Given the description of an element on the screen output the (x, y) to click on. 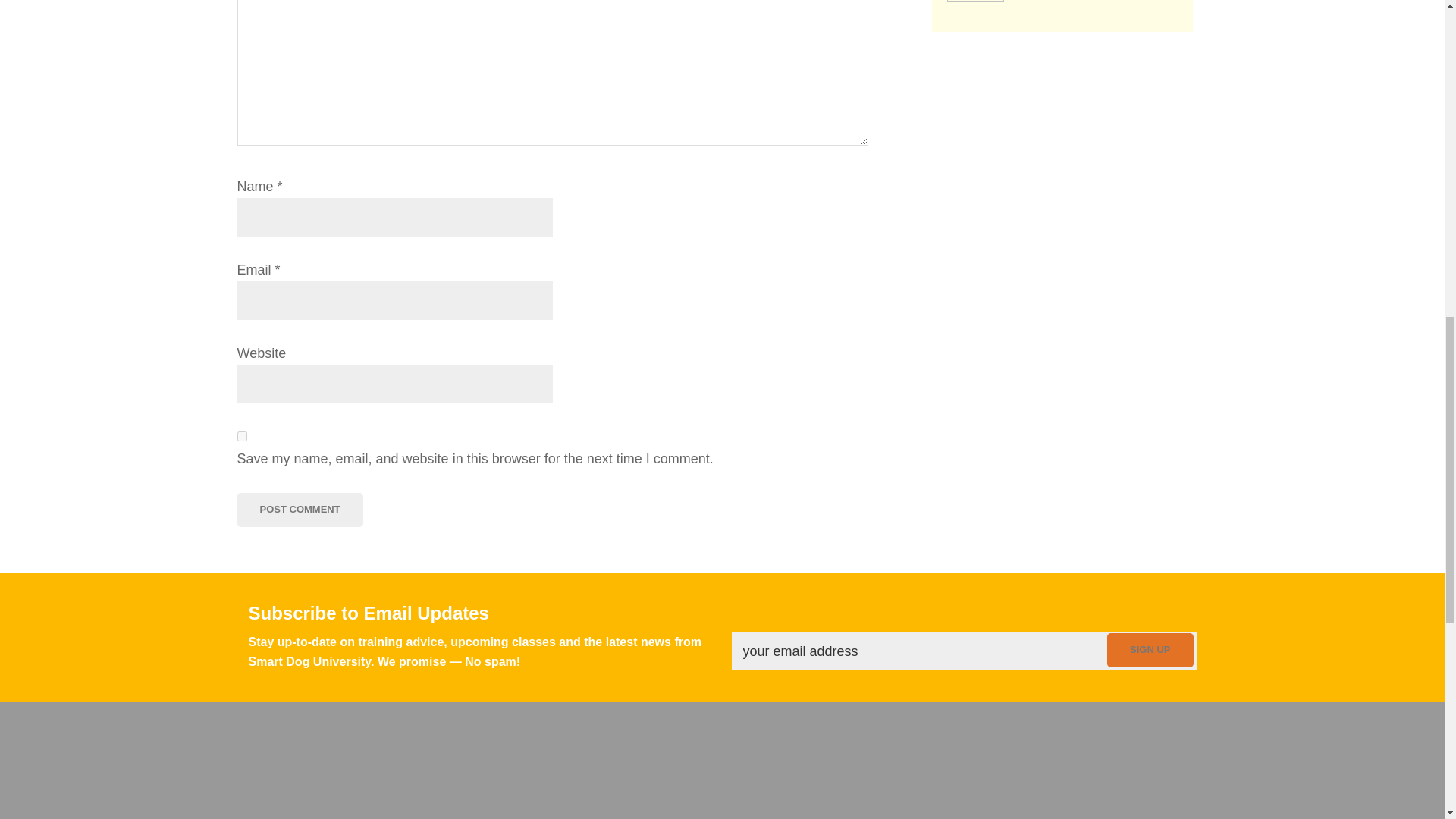
Sign Up (1149, 650)
Post Comment (298, 510)
Post Comment (298, 510)
Sign Up (1149, 650)
yes (240, 436)
